Given the description of an element on the screen output the (x, y) to click on. 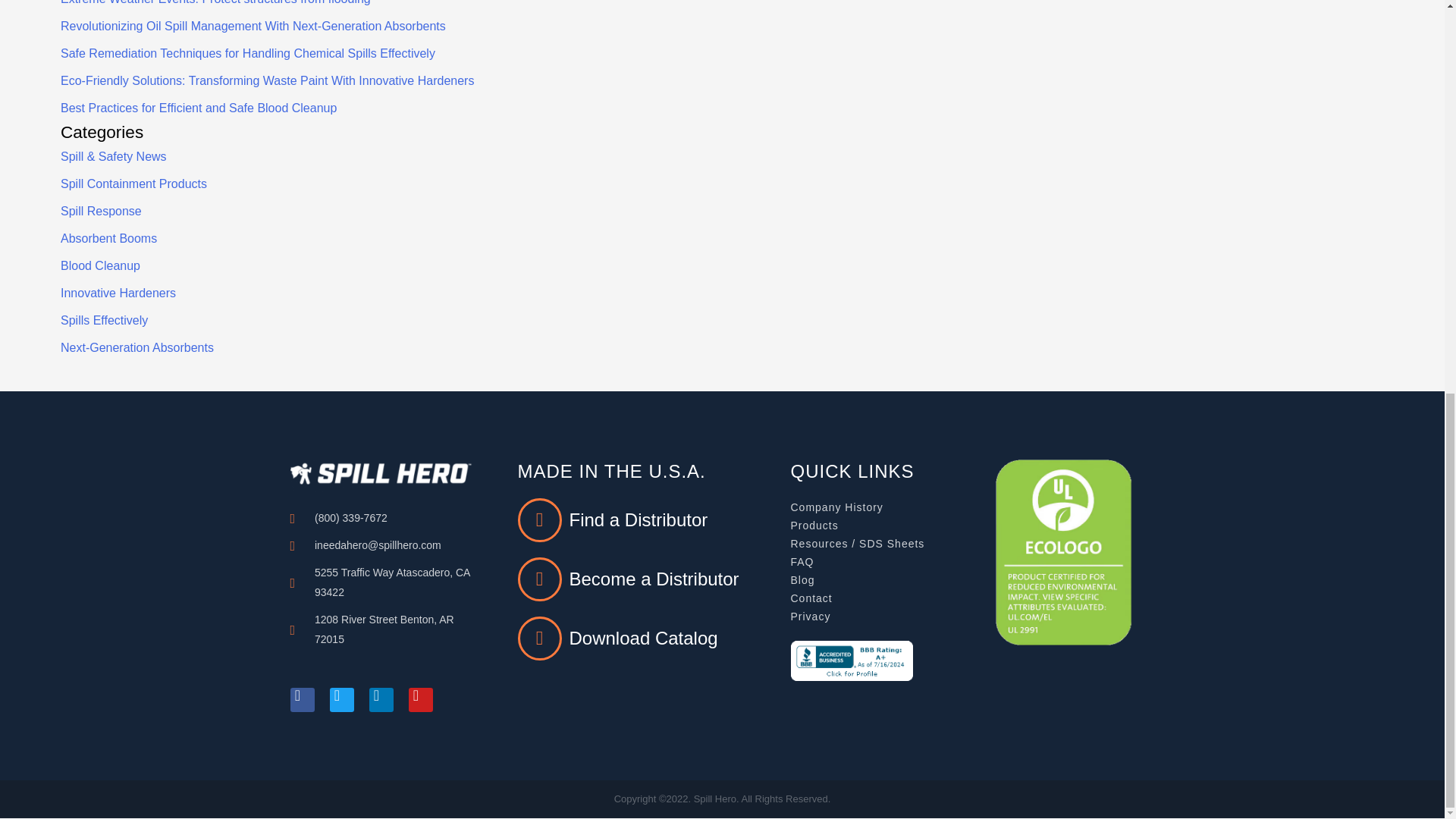
Extreme Weather Events: Protect structures from flooding (216, 2)
